Given the description of an element on the screen output the (x, y) to click on. 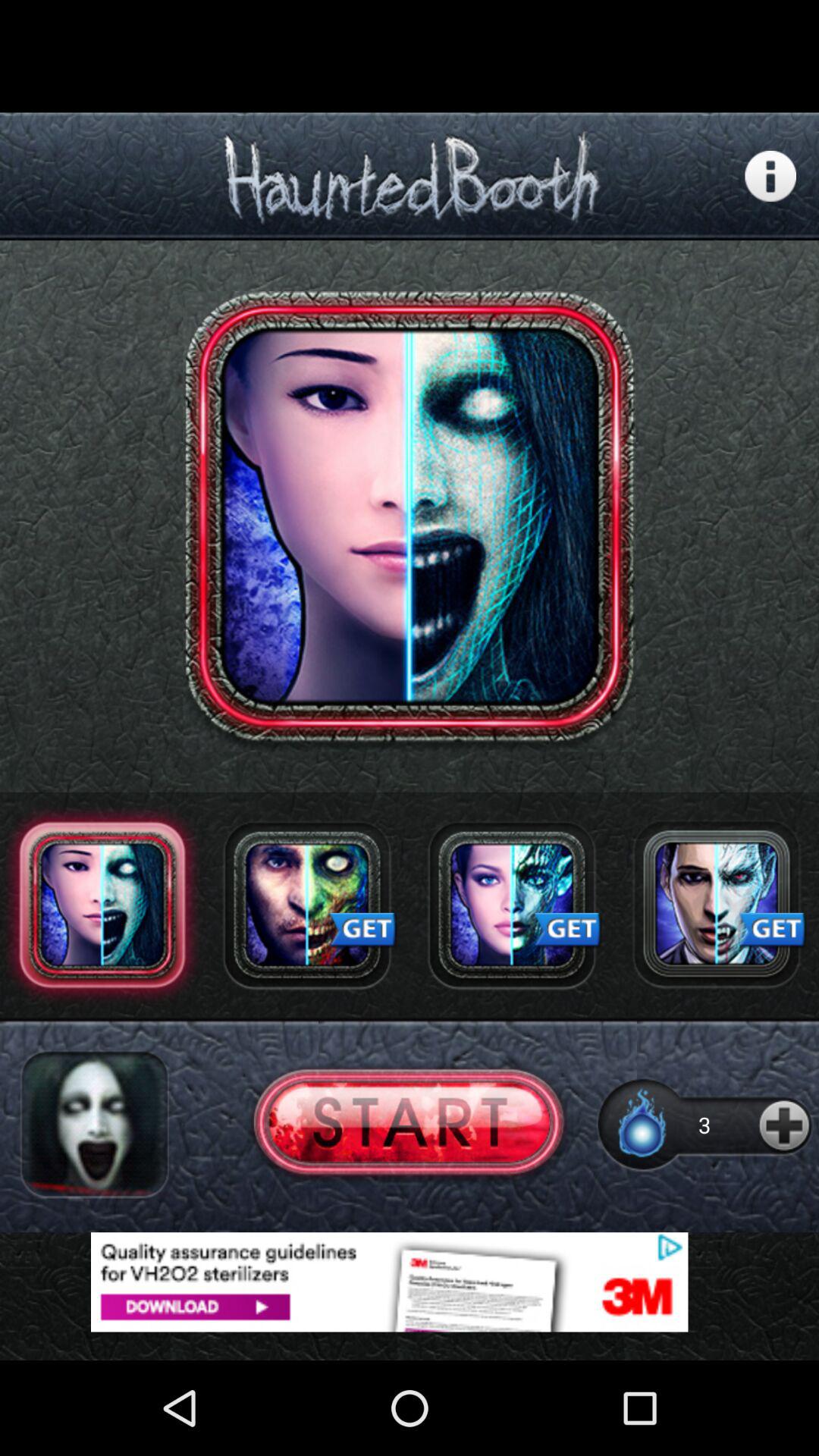
start meshing photos (409, 1124)
